Given the description of an element on the screen output the (x, y) to click on. 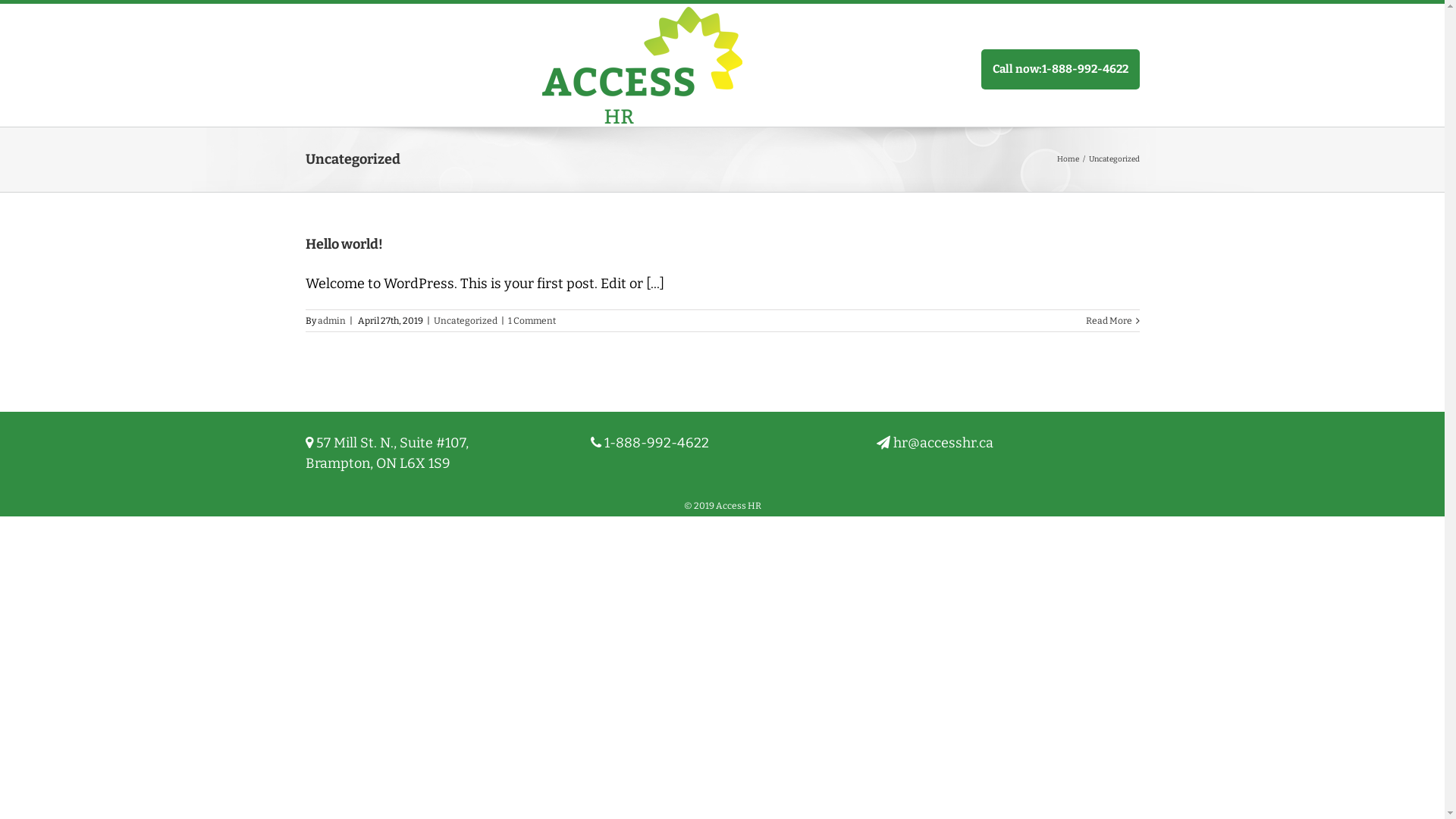
Uncategorized Element type: text (465, 320)
Hello world! Element type: text (343, 243)
1-888-992-4622 Element type: text (656, 442)
admin Element type: text (330, 320)
Home Element type: text (1068, 158)
1 Comment Element type: text (531, 320)
hr@accesshr.ca Element type: text (943, 442)
Read More Element type: text (1108, 320)
